Given the description of an element on the screen output the (x, y) to click on. 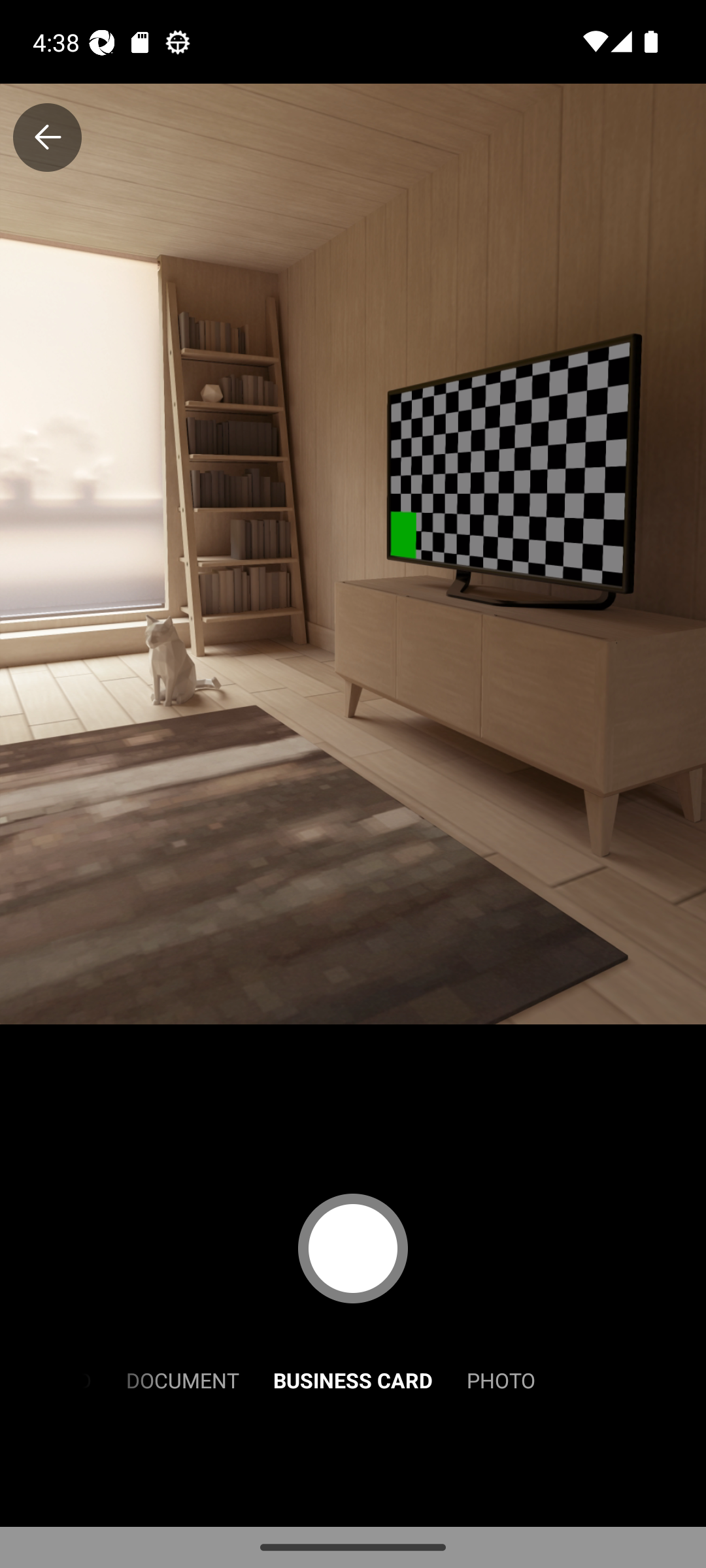
Close (47, 137)
Capture (352, 1248)
DOCUMENT (182, 1379)
BUSINESS CARD (352, 1379)
PHOTO (501, 1379)
